Given the description of an element on the screen output the (x, y) to click on. 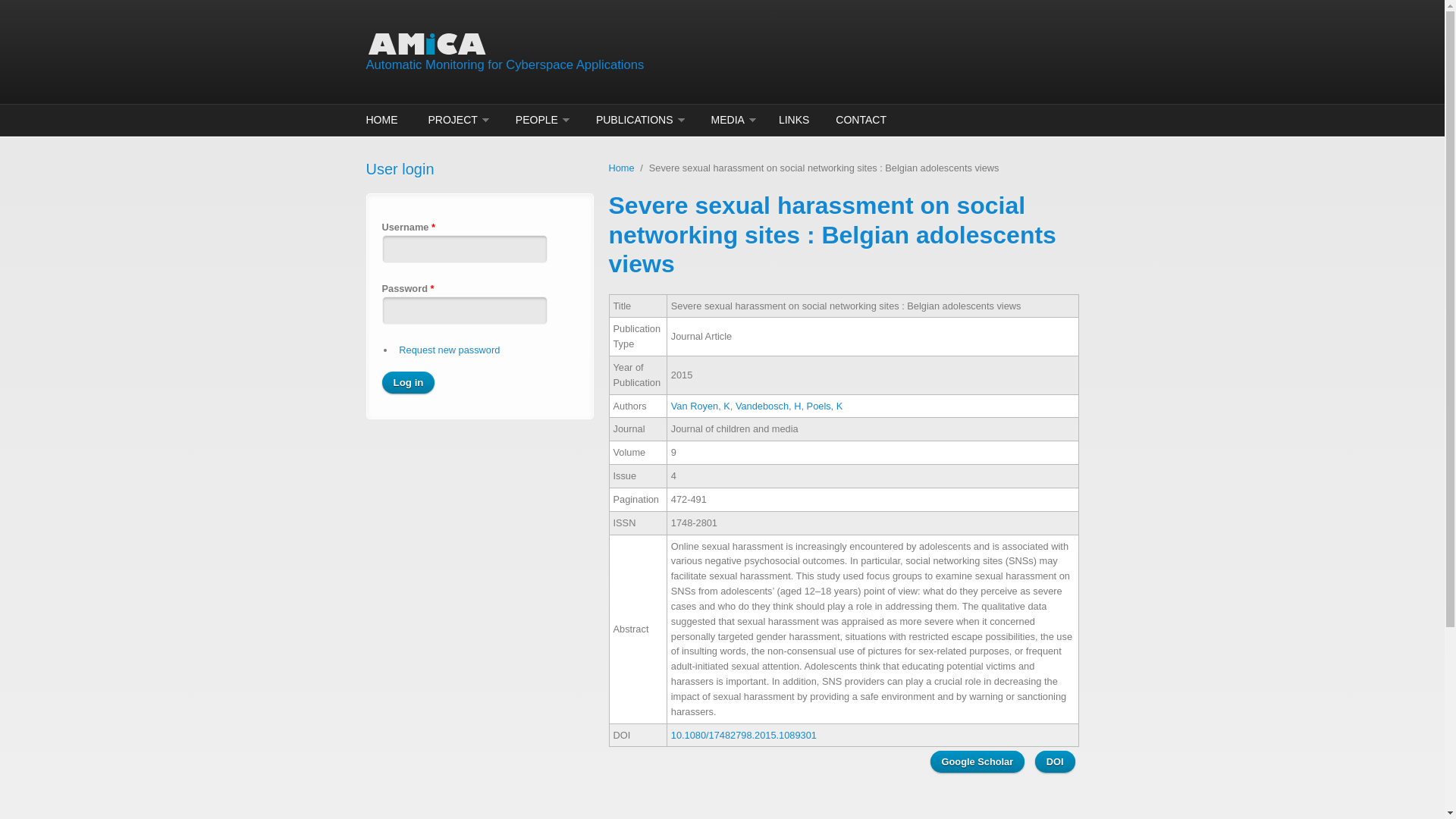
DOI Element type: text (1055, 761)
LINKS Element type: text (793, 119)
Google Scholar Element type: text (977, 761)
Automatic Monitoring for Cyberspace Applications Element type: text (504, 64)
Van Royen, K Element type: text (700, 405)
Vandebosch, H Element type: text (768, 405)
PUBLICATIONS Element type: text (636, 119)
Request new password Element type: text (448, 349)
Poels, K Element type: text (824, 405)
Skip to main content Element type: text (43, 0)
HOME Element type: text (383, 119)
Home Element type: text (620, 167)
Log in Element type: text (408, 382)
PEOPLE Element type: text (538, 119)
Home Element type: hover (600, 43)
10.1080/17482798.2015.1089301 Element type: text (743, 734)
CONTACT Element type: text (858, 119)
MEDIA Element type: text (729, 119)
PROJECT Element type: text (454, 119)
